Given the description of an element on the screen output the (x, y) to click on. 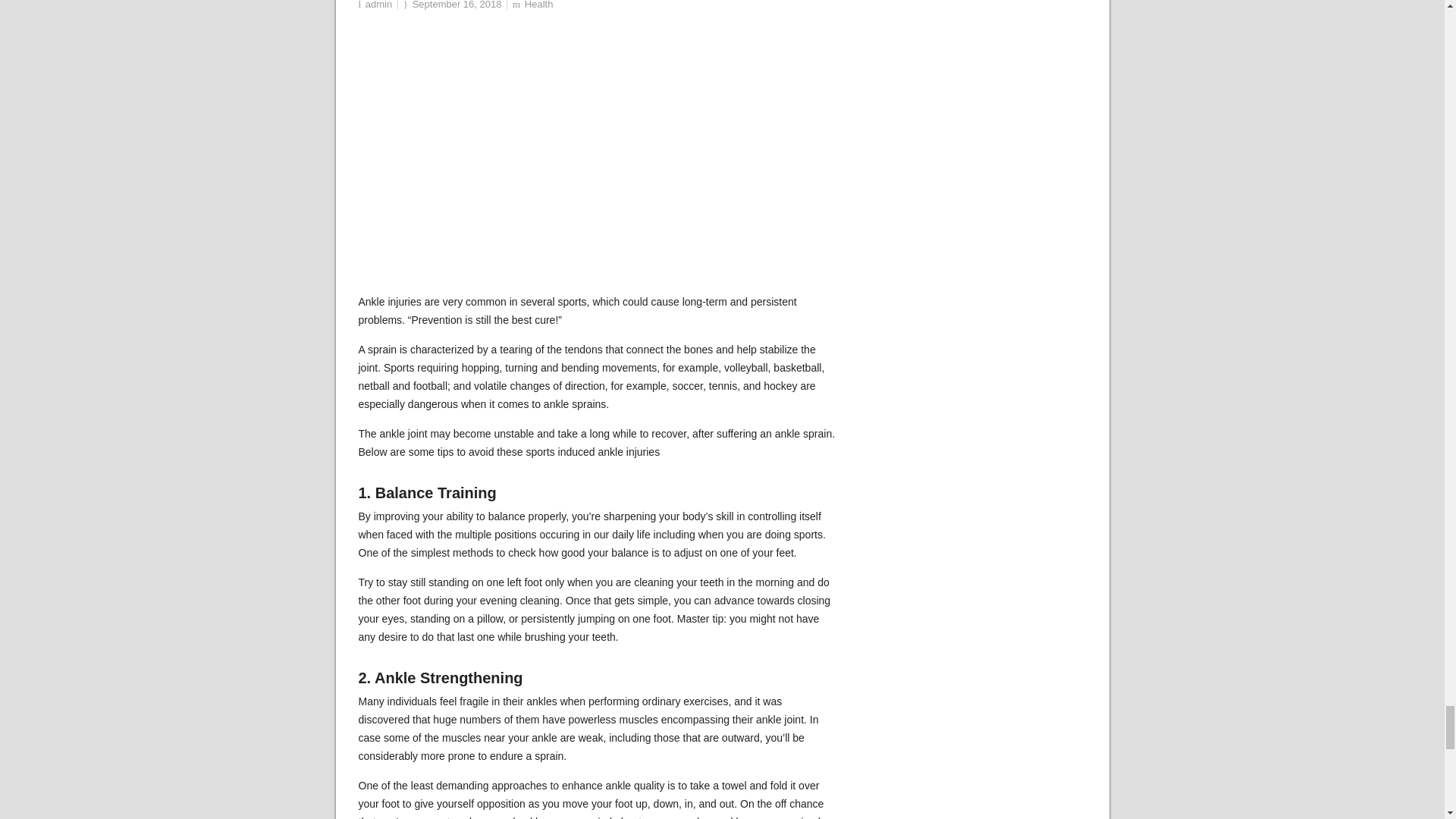
Posts by admin (378, 4)
